Given the description of an element on the screen output the (x, y) to click on. 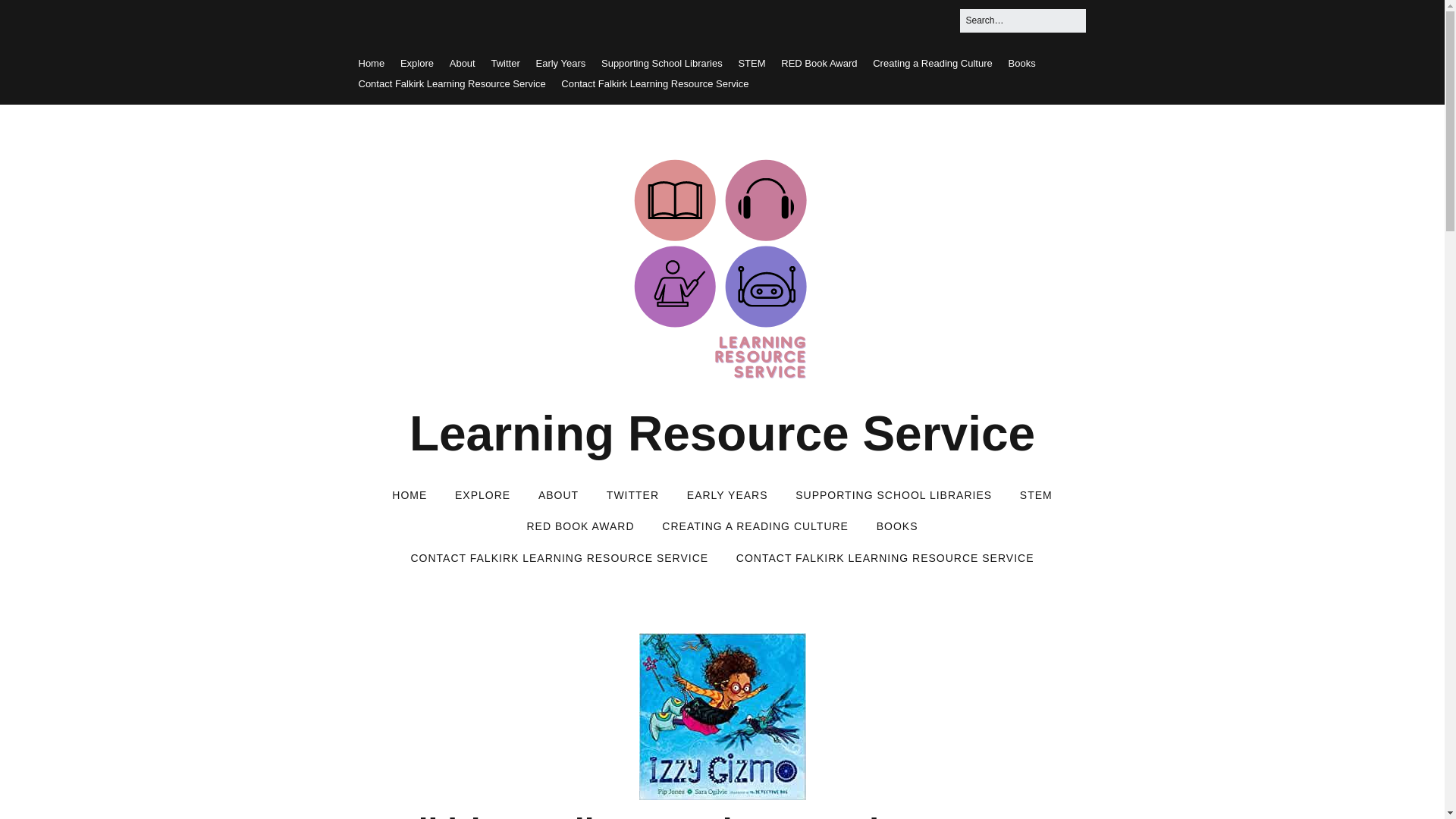
Search (29, 16)
Home (371, 62)
STEM (751, 62)
Supporting School Libraries (661, 62)
TWITTER (632, 495)
RED Book Award (818, 62)
About (462, 62)
RED BOOK AWARD (579, 526)
CREATING A READING CULTURE (754, 526)
EXPLORE (482, 495)
